Given the description of an element on the screen output the (x, y) to click on. 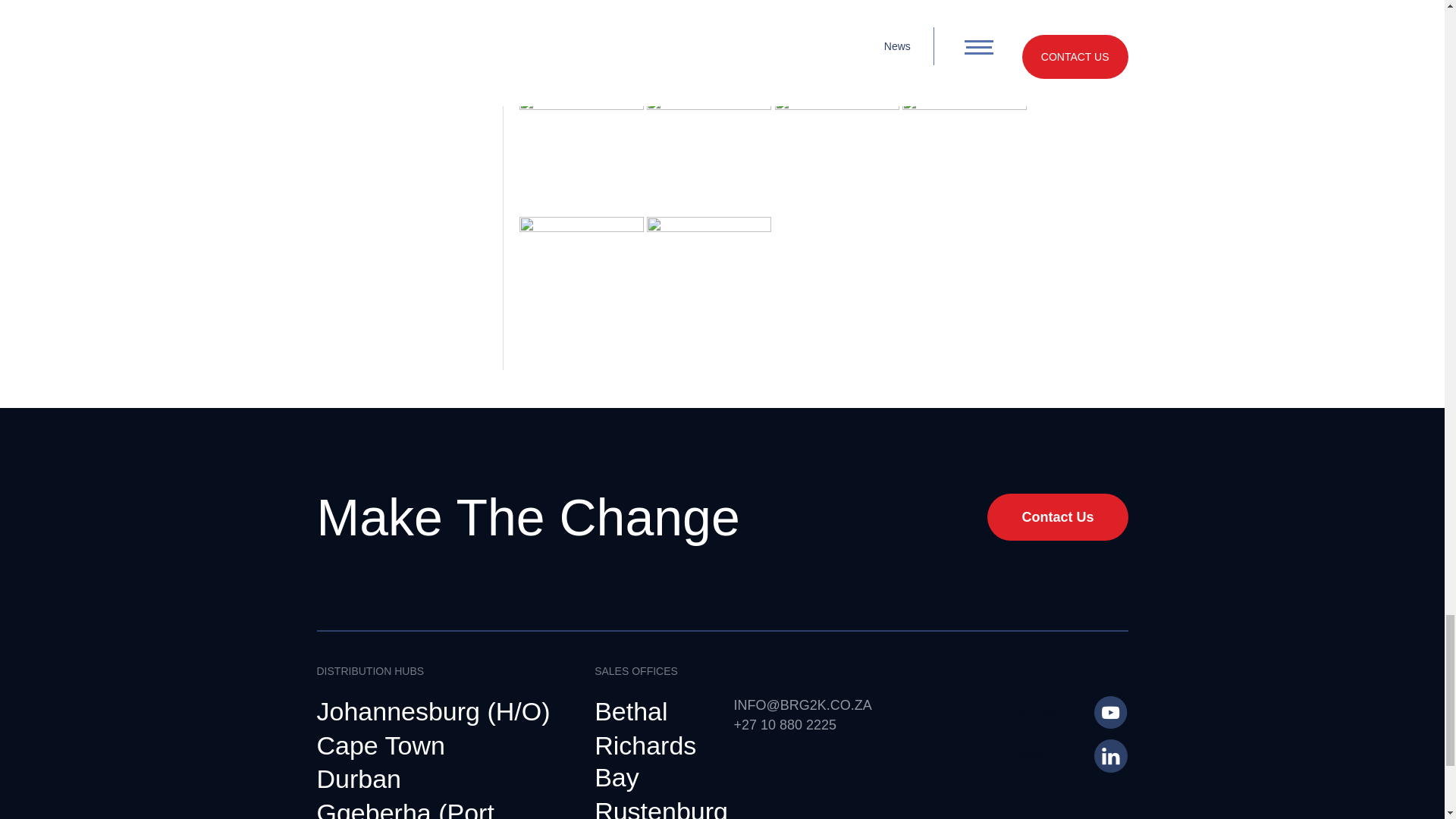
Durban (359, 779)
Bethal (630, 712)
Richards Bay (652, 762)
Contact Us (1056, 516)
Rustenburg (661, 807)
Cape Town (381, 746)
